Given the description of an element on the screen output the (x, y) to click on. 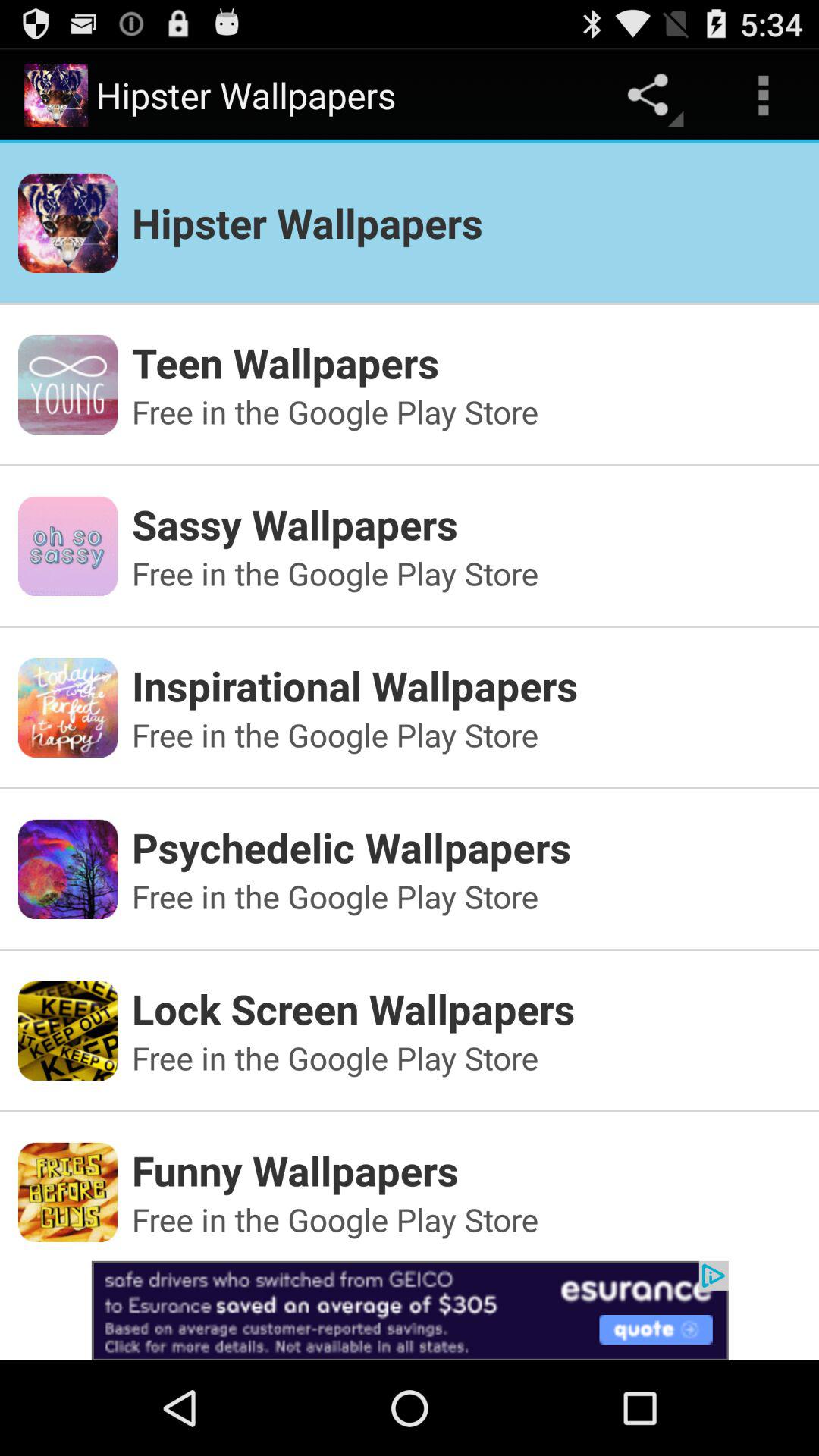
advertising (409, 1310)
